Given the description of an element on the screen output the (x, y) to click on. 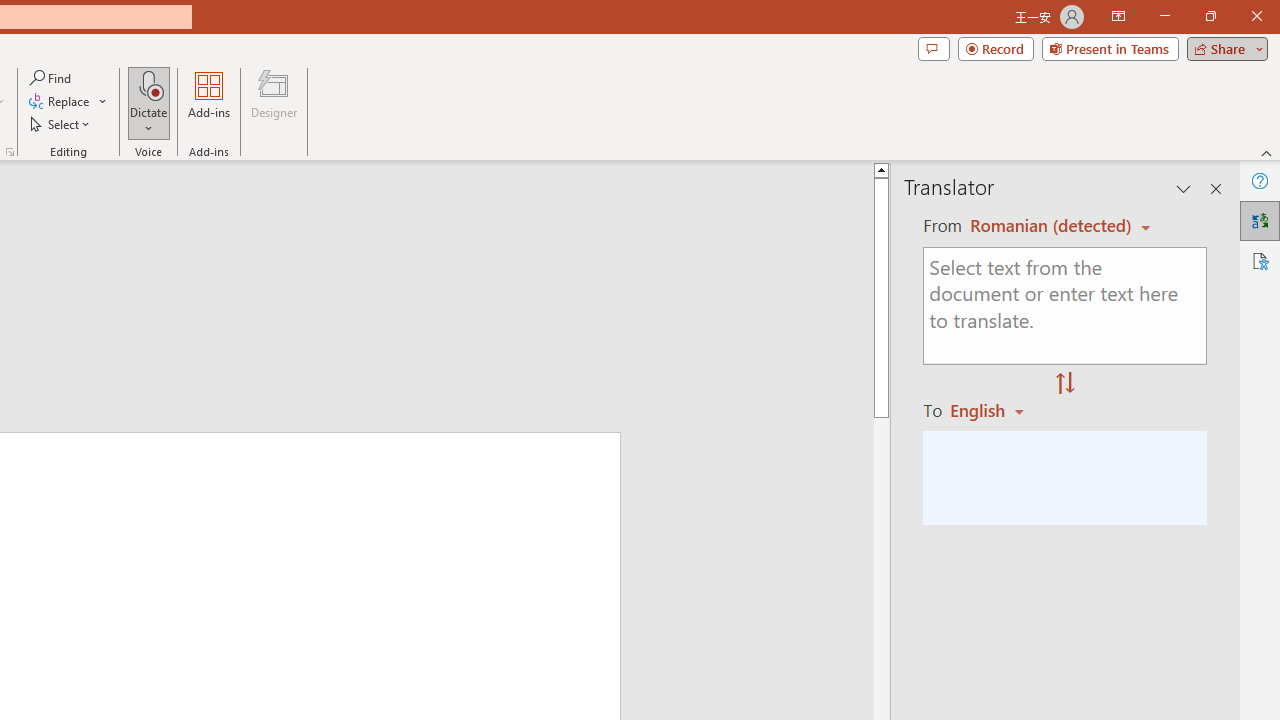
Share (1223, 48)
Ribbon Display Options (1118, 16)
Present in Teams (1109, 48)
Close pane (1215, 188)
Replace... (60, 101)
Restore Down (1210, 16)
Dictate (149, 84)
Replace... (68, 101)
Collapse the Ribbon (1267, 152)
